Given the description of an element on the screen output the (x, y) to click on. 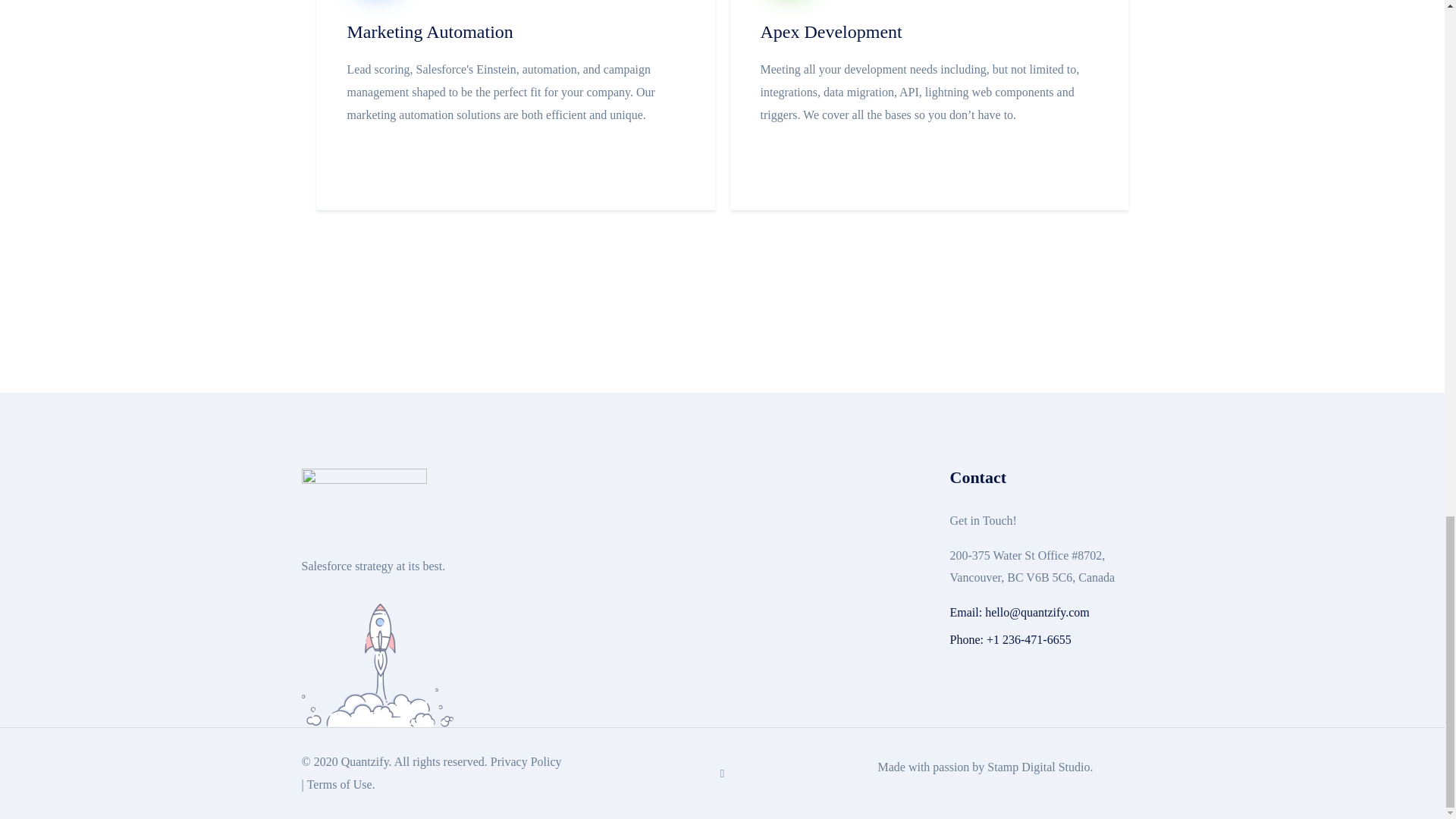
Marketing Automation (430, 31)
Stamp Digital Studio. (1040, 766)
Apex Development (830, 31)
Terms of Use. (341, 784)
Get in Touch! (982, 520)
Privacy Policy (526, 762)
